Given the description of an element on the screen output the (x, y) to click on. 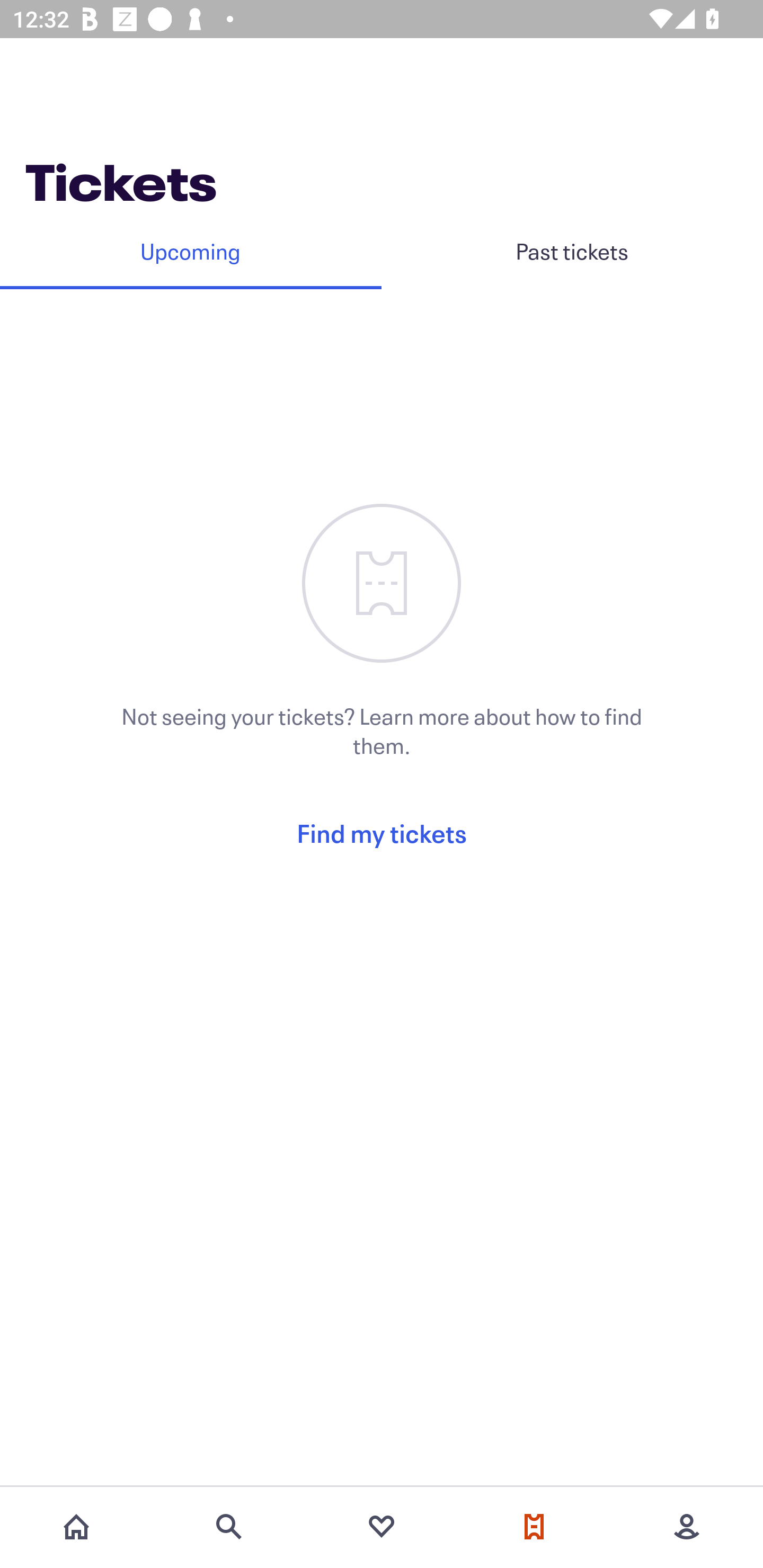
Past tickets (572, 250)
Find my tickets (381, 833)
Home (76, 1526)
Search events (228, 1526)
Favorites (381, 1526)
Tickets (533, 1526)
More (686, 1526)
